Given the description of an element on the screen output the (x, y) to click on. 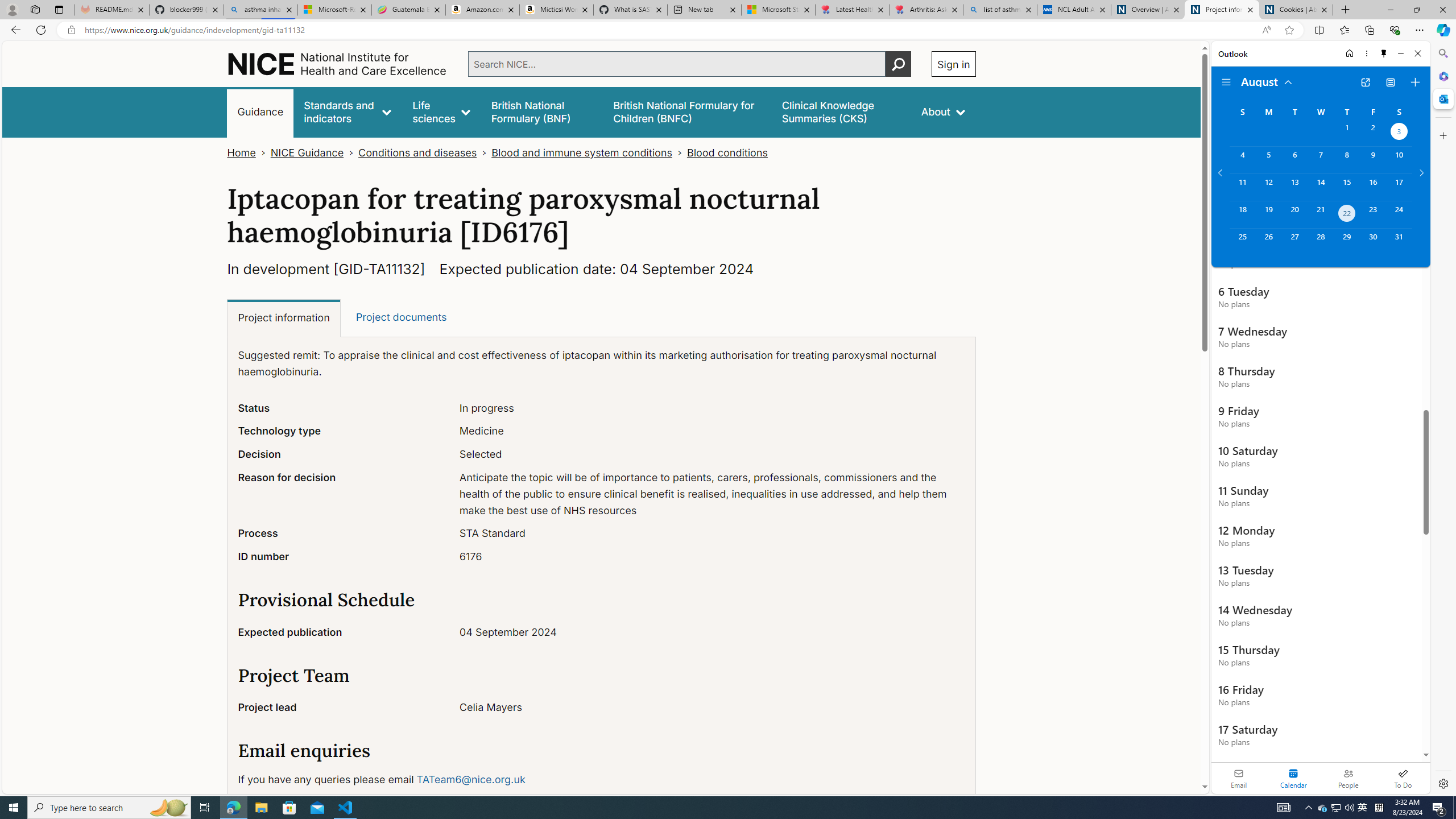
Home (1348, 53)
August (1267, 80)
Home (241, 152)
Sunday, August 18, 2024.  (1242, 214)
Tuesday, August 27, 2024.  (1294, 241)
Email (1238, 777)
New tab (703, 9)
Tuesday, August 20, 2024.  (1294, 214)
Arthritis: Ask Health Professionals (925, 9)
Personal Profile (12, 9)
More options (1366, 53)
Add this page to favorites (Ctrl+D) (1289, 29)
